Given the description of an element on the screen output the (x, y) to click on. 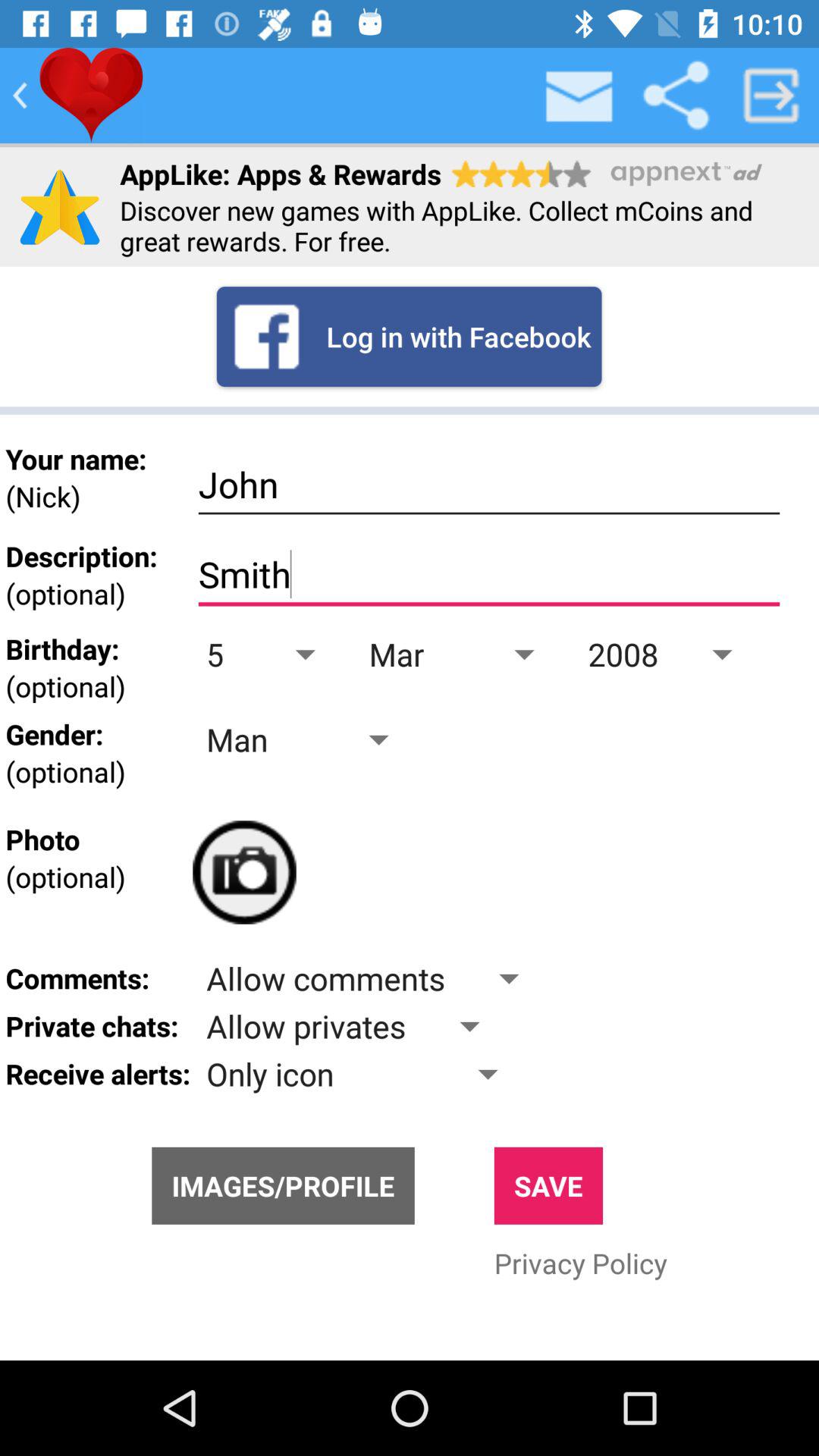
add phtoto (244, 872)
